Given the description of an element on the screen output the (x, y) to click on. 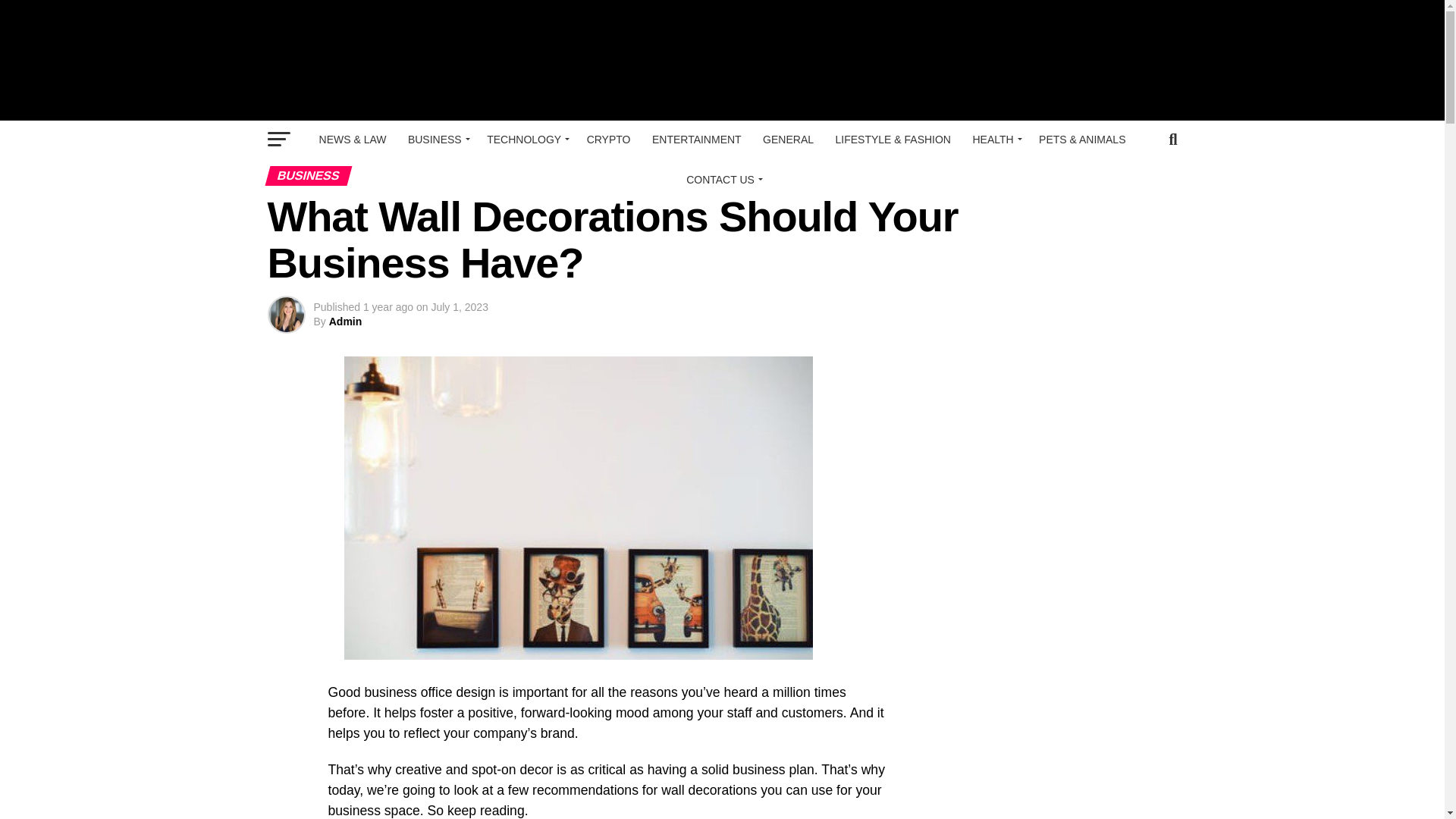
TECHNOLOGY (525, 139)
Posts by Admin (345, 321)
BUSINESS (436, 139)
